Given the description of an element on the screen output the (x, y) to click on. 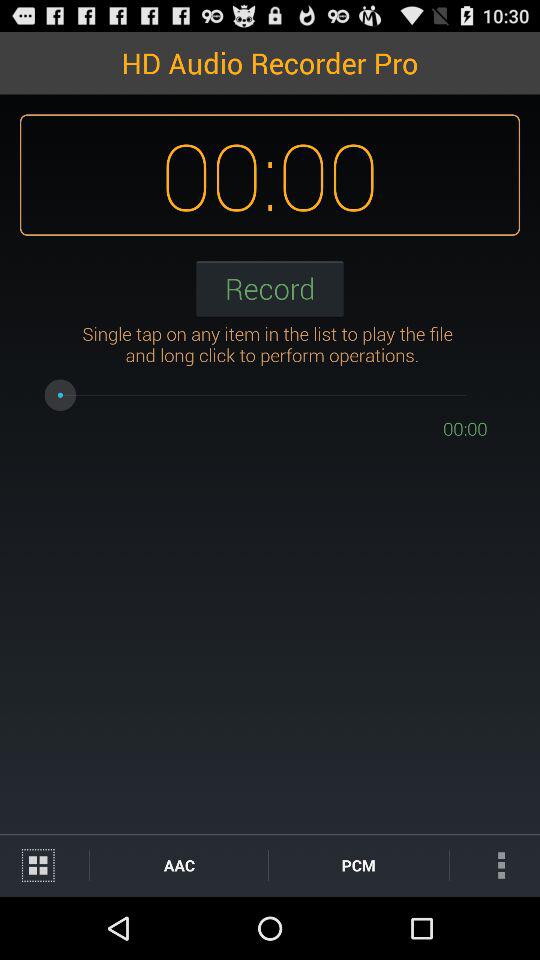
launch icon next to the aac item (44, 864)
